Given the description of an element on the screen output the (x, y) to click on. 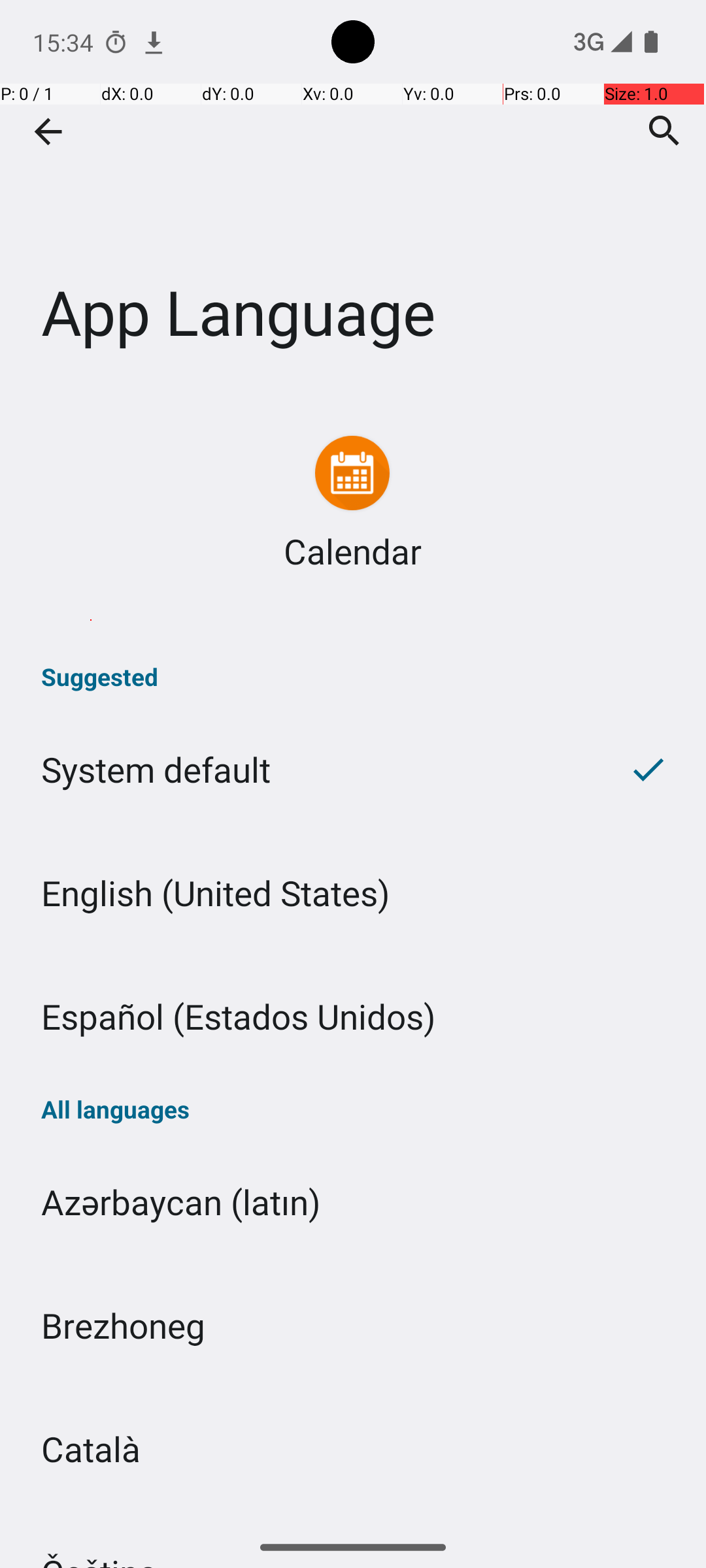
Brezhoneg Element type: android.widget.TextView (353, 1325)
Català Element type: android.widget.TextView (353, 1448)
Čeština Element type: android.widget.TextView (353, 1518)
